Given the description of an element on the screen output the (x, y) to click on. 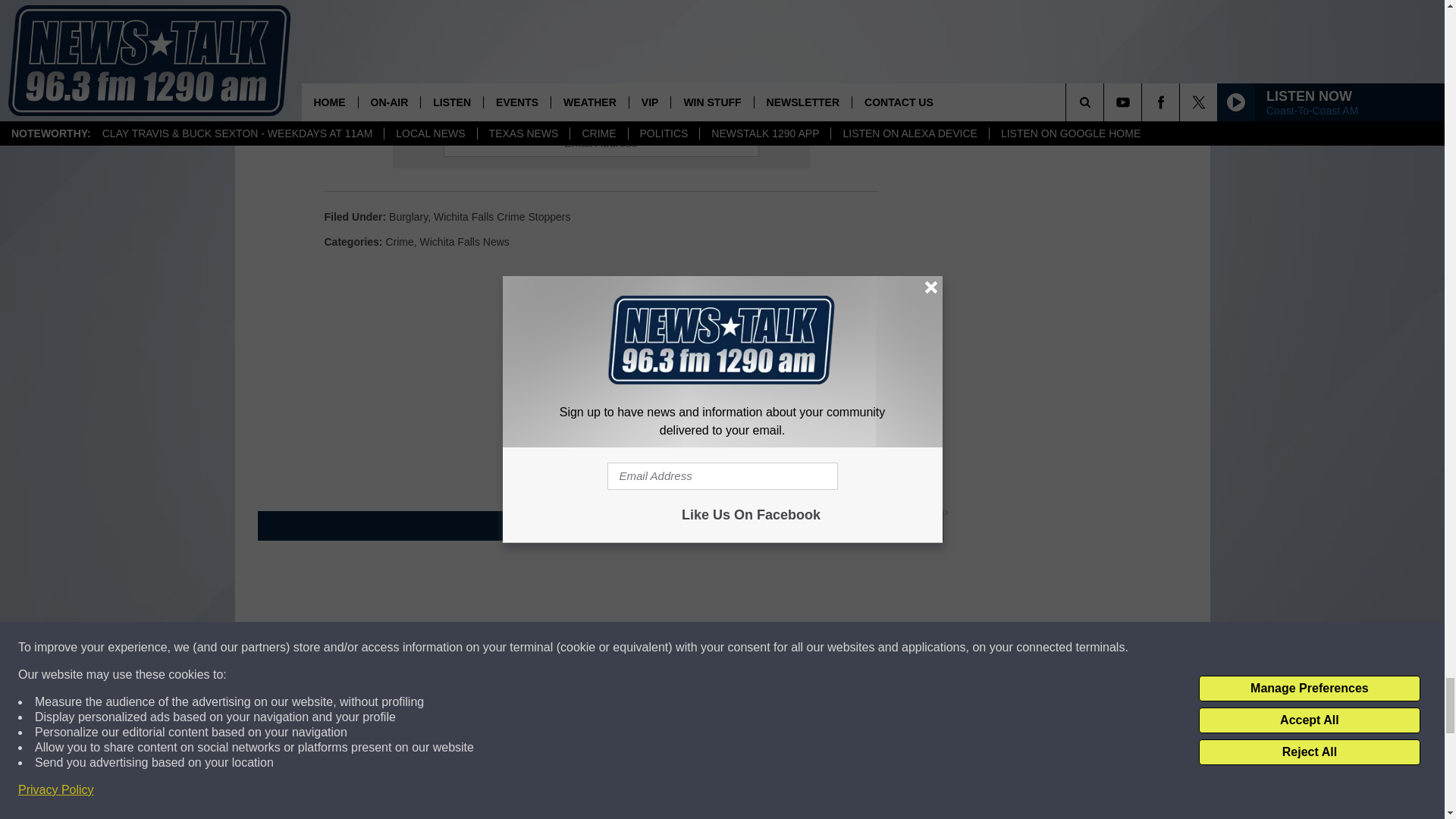
Email Address (600, 143)
